Given the description of an element on the screen output the (x, y) to click on. 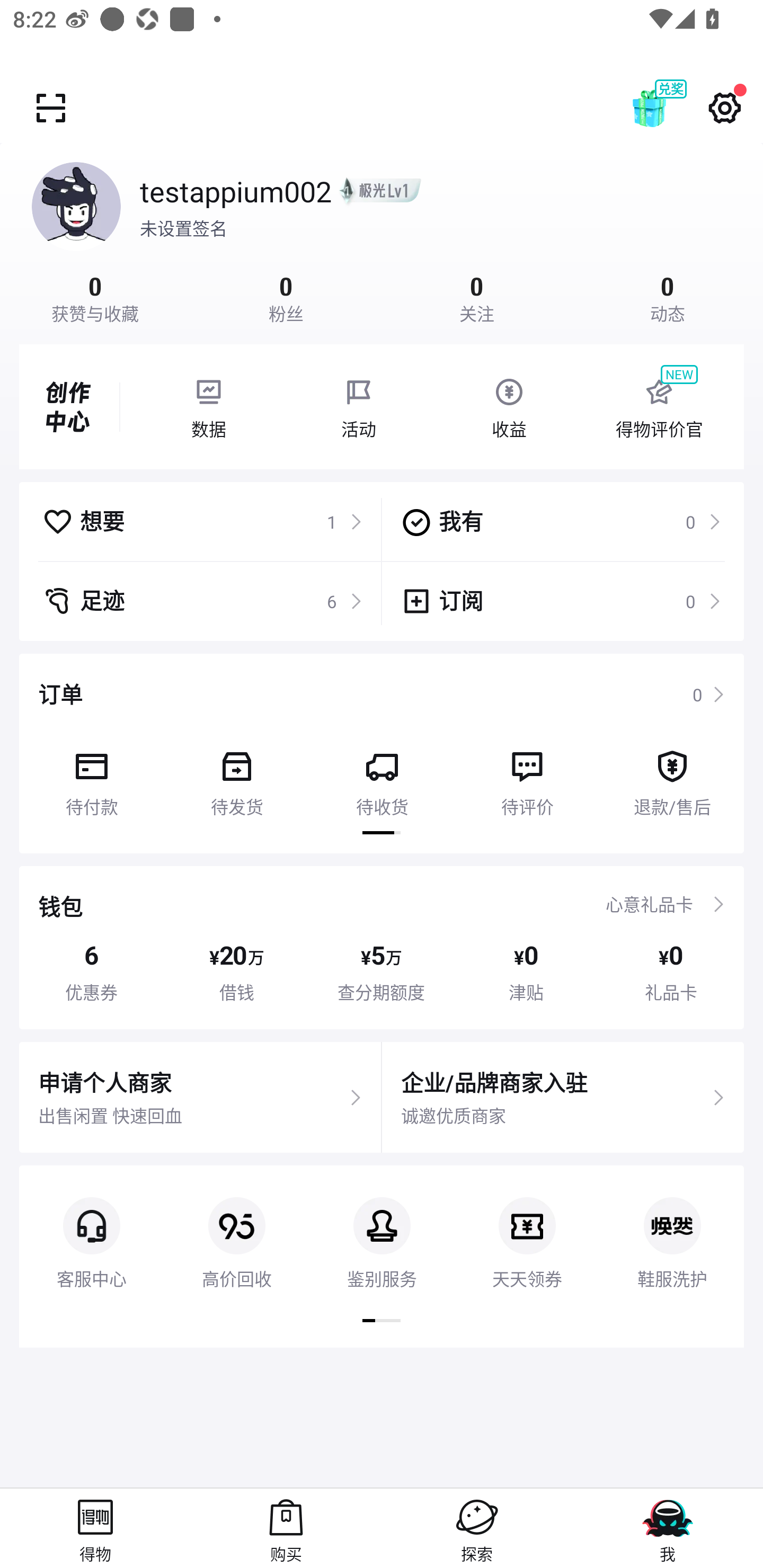
兑奖 (667, 107)
testappium002 未设置签名 0 获赞与收藏 0 粉丝 0 关注 0 动态 (381, 233)
0 获赞与收藏 (95, 296)
0 粉丝 (285, 296)
0 关注 (476, 296)
0 动态 (667, 296)
数据 (208, 406)
活动 (358, 406)
收益 (508, 406)
NEW 得物评价官 (658, 406)
想要 1 (201, 521)
我有 0 (560, 521)
足迹 6 (201, 601)
订阅 0 (560, 601)
订单 0 待付款 待发货 待收货 待评价 退款/售后 (381, 752)
待付款 (91, 776)
待发货 (236, 776)
待收货 (381, 776)
待评价 (526, 776)
退款/售后 (671, 776)
心意礼品卡 (648, 903)
6 优惠券 (91, 971)
¥ 20 万 借钱 (236, 971)
¥ 5 万 查分期额度 (381, 971)
¥ 0 津贴 (525, 971)
¥ 0 礼品卡 (670, 971)
申请个人商家 出售闲置 快速回血 (199, 1097)
企业/品牌商家入驻 诚邀优质商家 (562, 1097)
客服中心 (91, 1227)
高价回收 (236, 1227)
鉴别服务 (381, 1227)
天天领券 (526, 1227)
鞋服洗护 (671, 1227)
得物 (95, 1528)
购买 (285, 1528)
探索 (476, 1528)
我 (667, 1528)
